Given the description of an element on the screen output the (x, y) to click on. 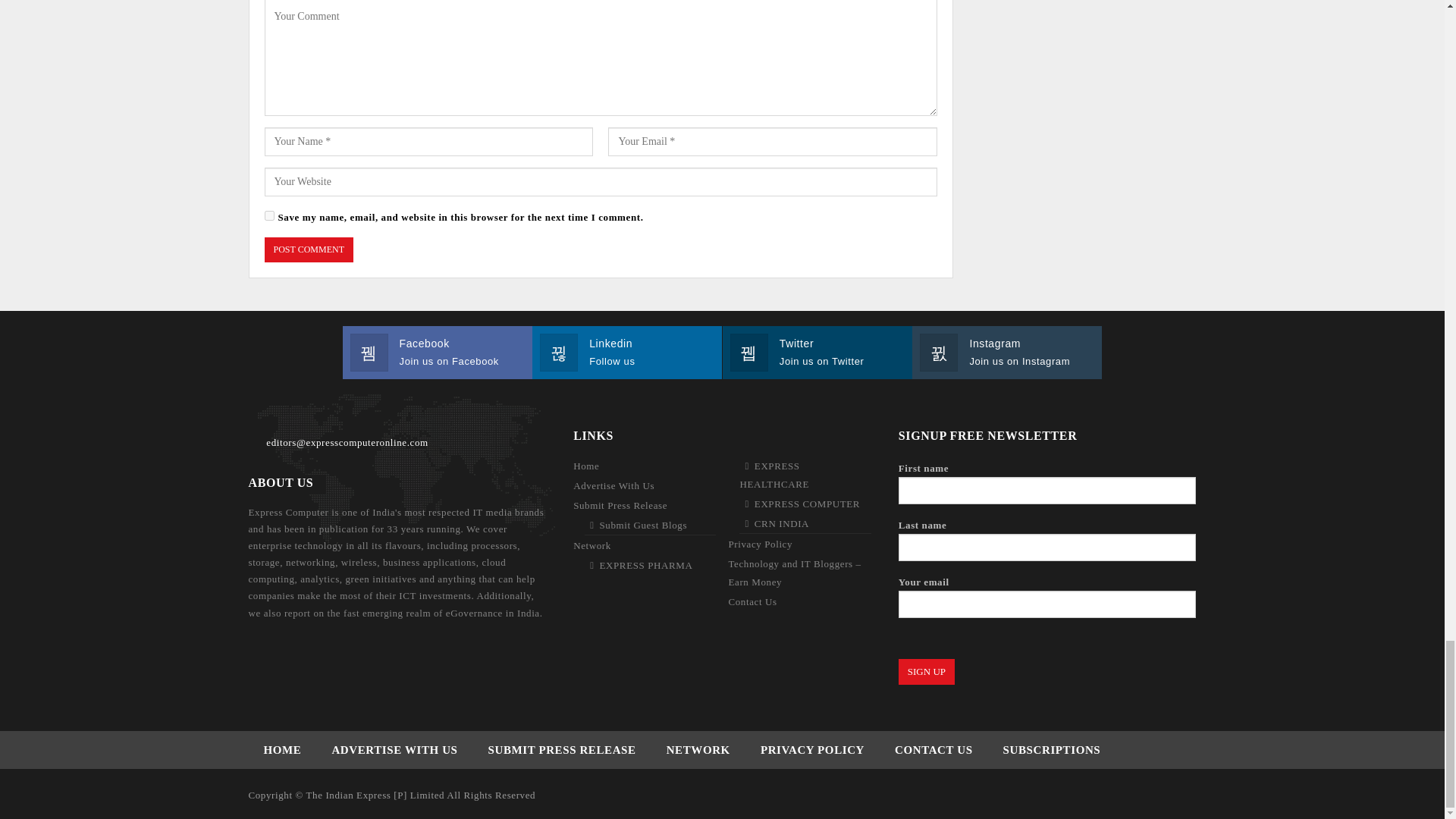
Sign Up (926, 671)
Post Comment (307, 249)
yes (268, 215)
